Given the description of an element on the screen output the (x, y) to click on. 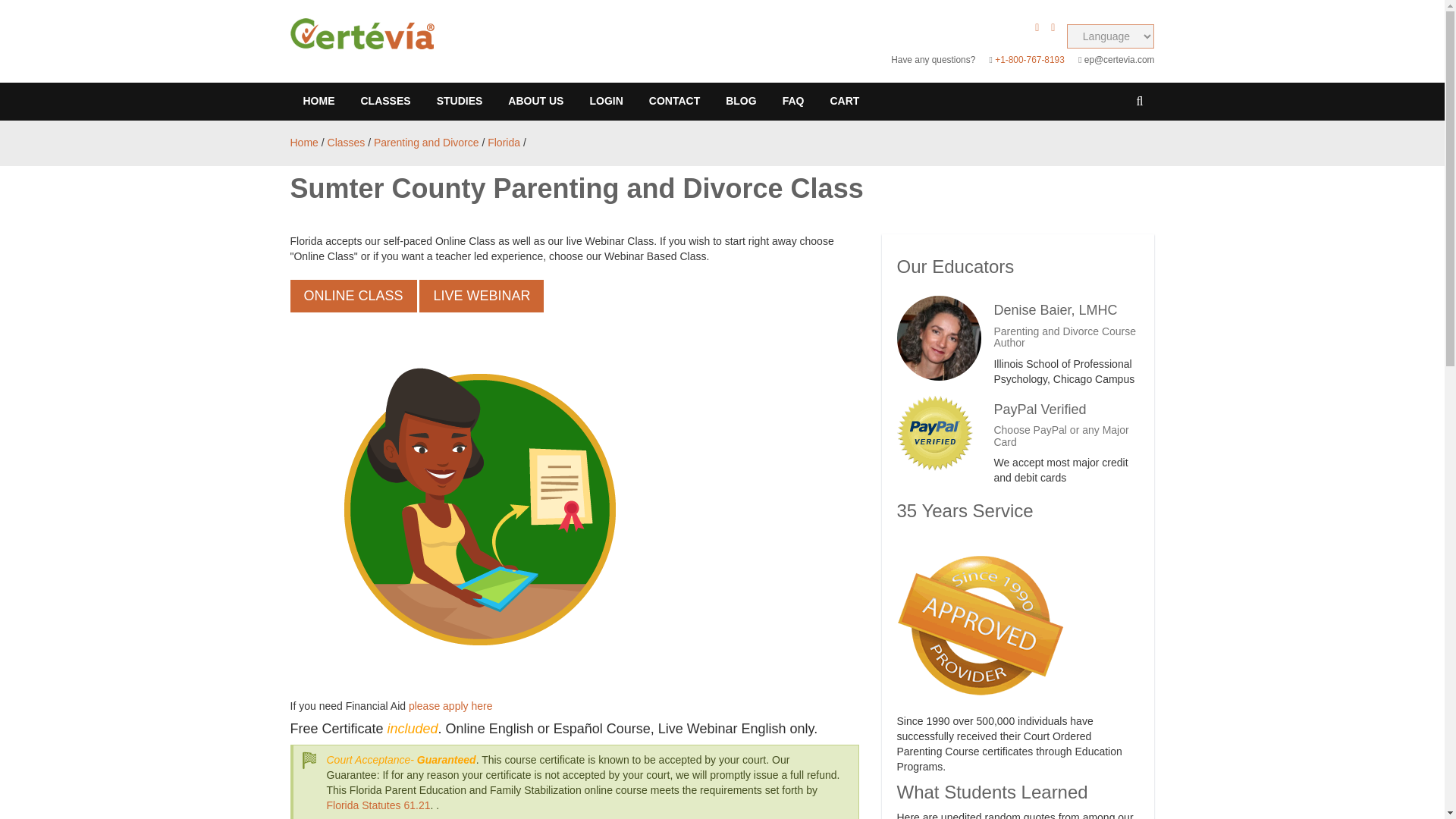
CART (844, 101)
CONTACT (674, 101)
STUDIES (459, 101)
CLASSES (385, 101)
BLOG (740, 101)
Florida (503, 142)
HOME (318, 101)
Florida Parenting Class Statute 61.21 (377, 805)
Home (303, 142)
ABOUT US (535, 101)
